Given the description of an element on the screen output the (x, y) to click on. 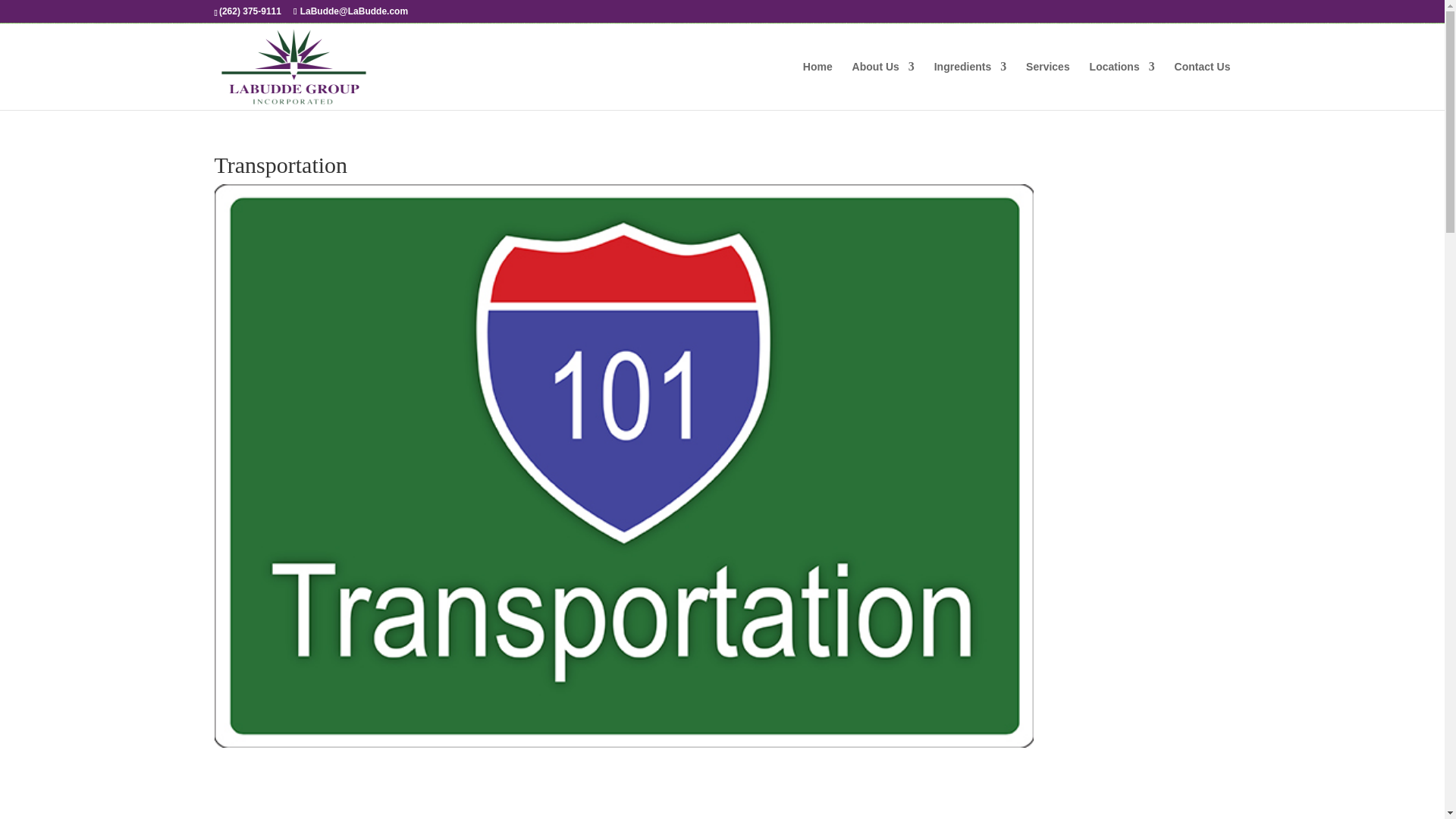
Locations (1121, 85)
Services (1048, 85)
Contact Us (1202, 85)
Ingredients (970, 85)
About Us (882, 85)
